Given the description of an element on the screen output the (x, y) to click on. 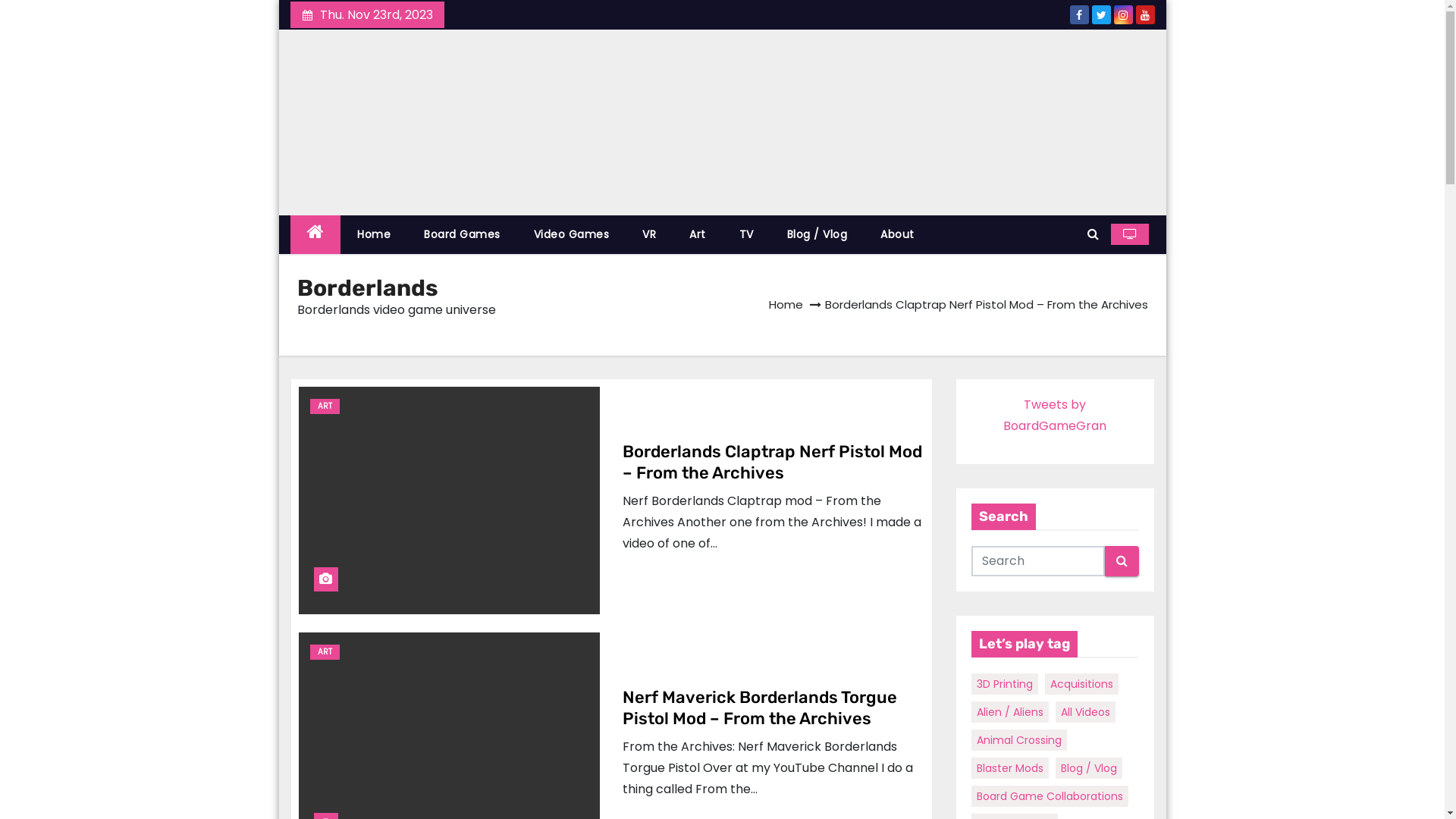
ART Element type: text (323, 406)
Blog / Vlog Element type: text (817, 234)
Home Element type: hover (314, 234)
VR Element type: text (648, 234)
Home Element type: text (785, 303)
Alien / Aliens Element type: text (1009, 710)
Home Element type: text (373, 234)
ART Element type: text (323, 651)
Art Element type: text (697, 234)
Tweets by BoardGameGran Element type: text (1054, 414)
Video Games Element type: text (571, 234)
About Element type: text (897, 234)
Board Game Collaborations Element type: text (1049, 795)
Board Games Element type: text (462, 234)
Acquisitions Element type: text (1081, 683)
TV Element type: text (745, 234)
3D Printing Element type: text (1004, 683)
Blaster Mods Element type: text (1009, 767)
All Videos Element type: text (1085, 710)
Blog / Vlog Element type: text (1088, 767)
Animal Crossing Element type: text (1018, 739)
